Given the description of an element on the screen output the (x, y) to click on. 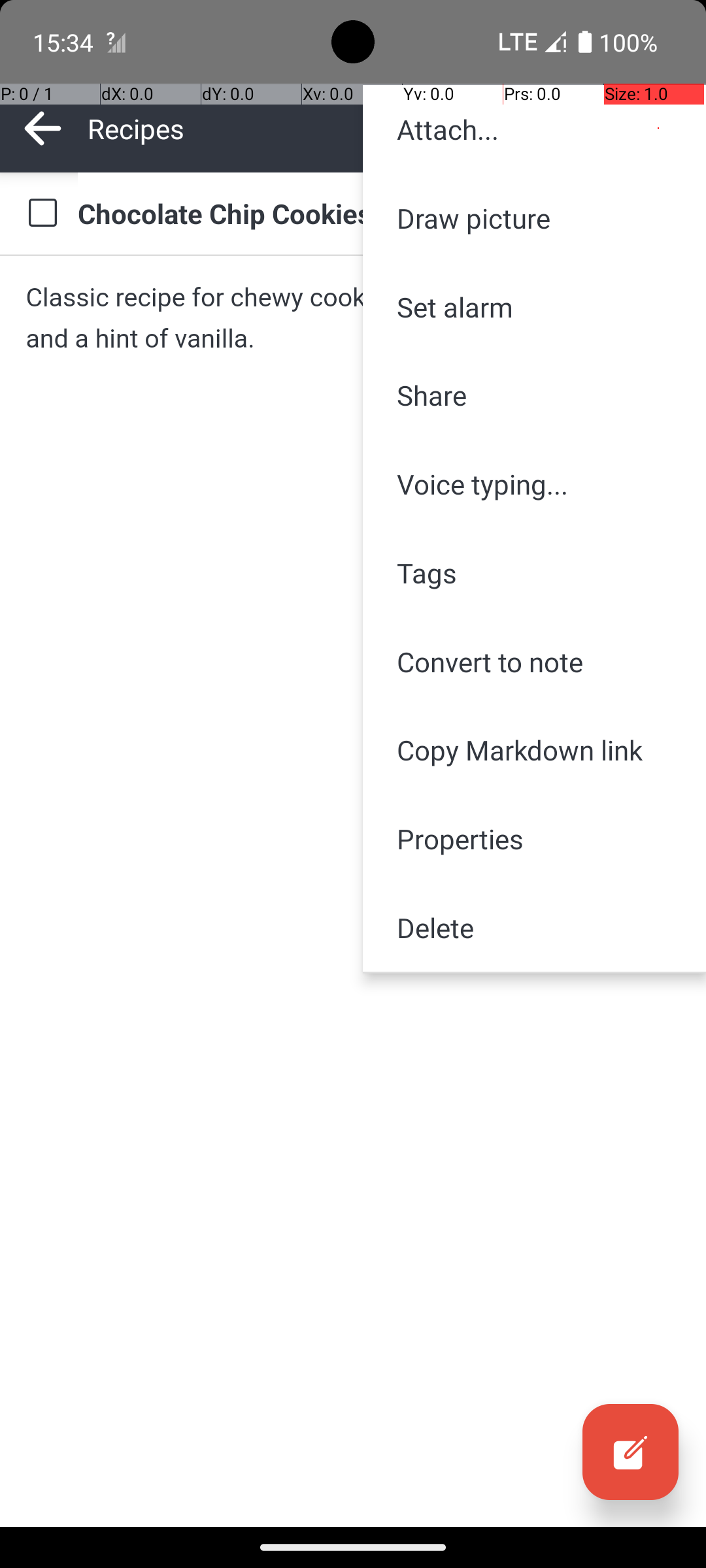
Chocolate Chip Cookies Element type: android.widget.EditText (378, 213)
Attach... Element type: android.widget.TextView (534, 129)
Draw picture Element type: android.widget.TextView (534, 217)
Set alarm Element type: android.widget.TextView (534, 306)
Voice typing... Element type: android.widget.TextView (534, 484)
Convert to note Element type: android.widget.TextView (534, 661)
Copy Markdown link Element type: android.widget.TextView (534, 749)
Properties Element type: android.widget.TextView (534, 838)
Classic recipe for chewy cookies with chocolate chips and a hint of vanilla. Element type: android.widget.TextView (352, 317)
